Given the description of an element on the screen output the (x, y) to click on. 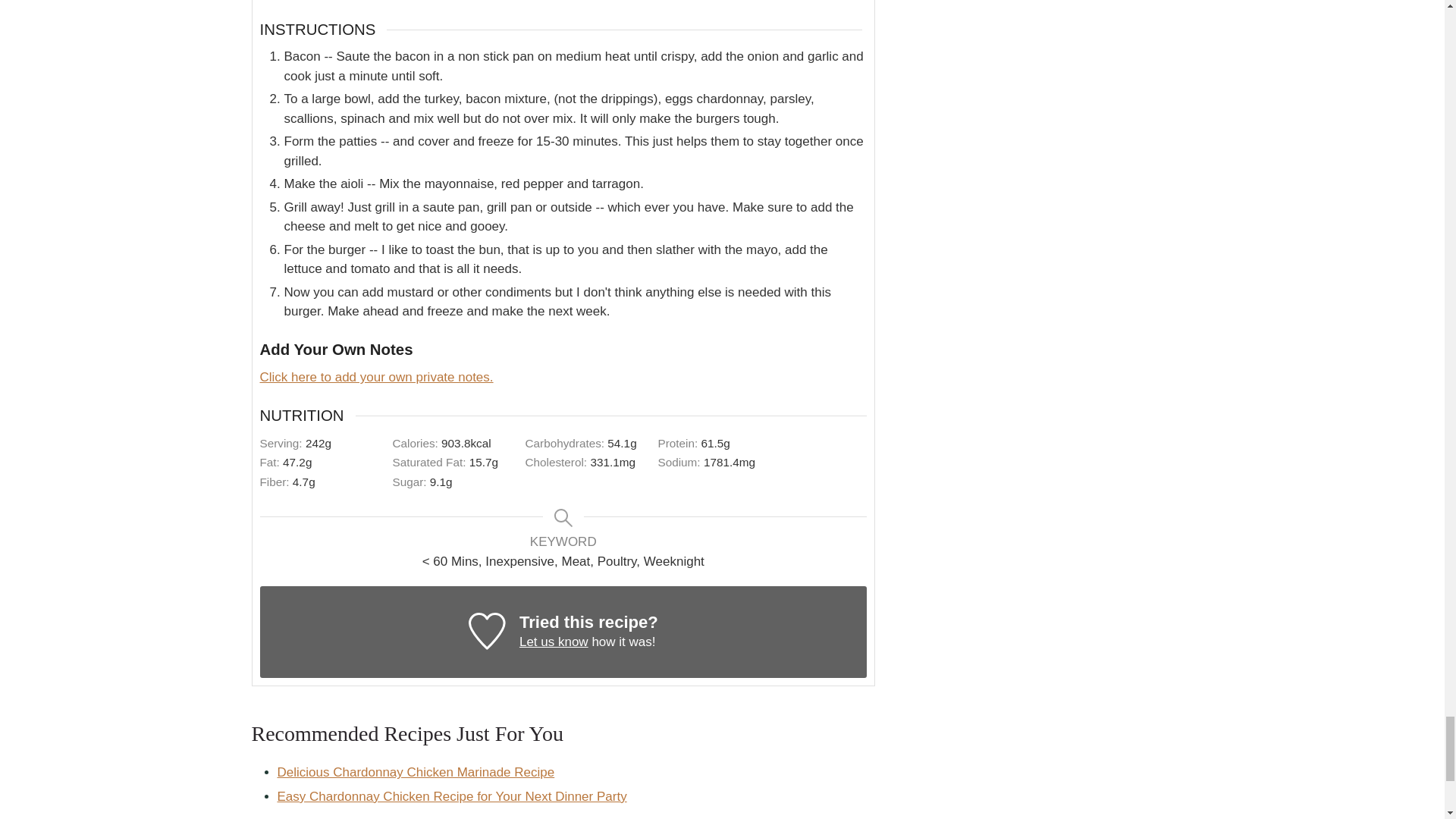
Delicious Chardonnay Chicken Marinade Recipe (416, 771)
Let us know (553, 641)
Click here to add your own private notes. (376, 377)
